Given the description of an element on the screen output the (x, y) to click on. 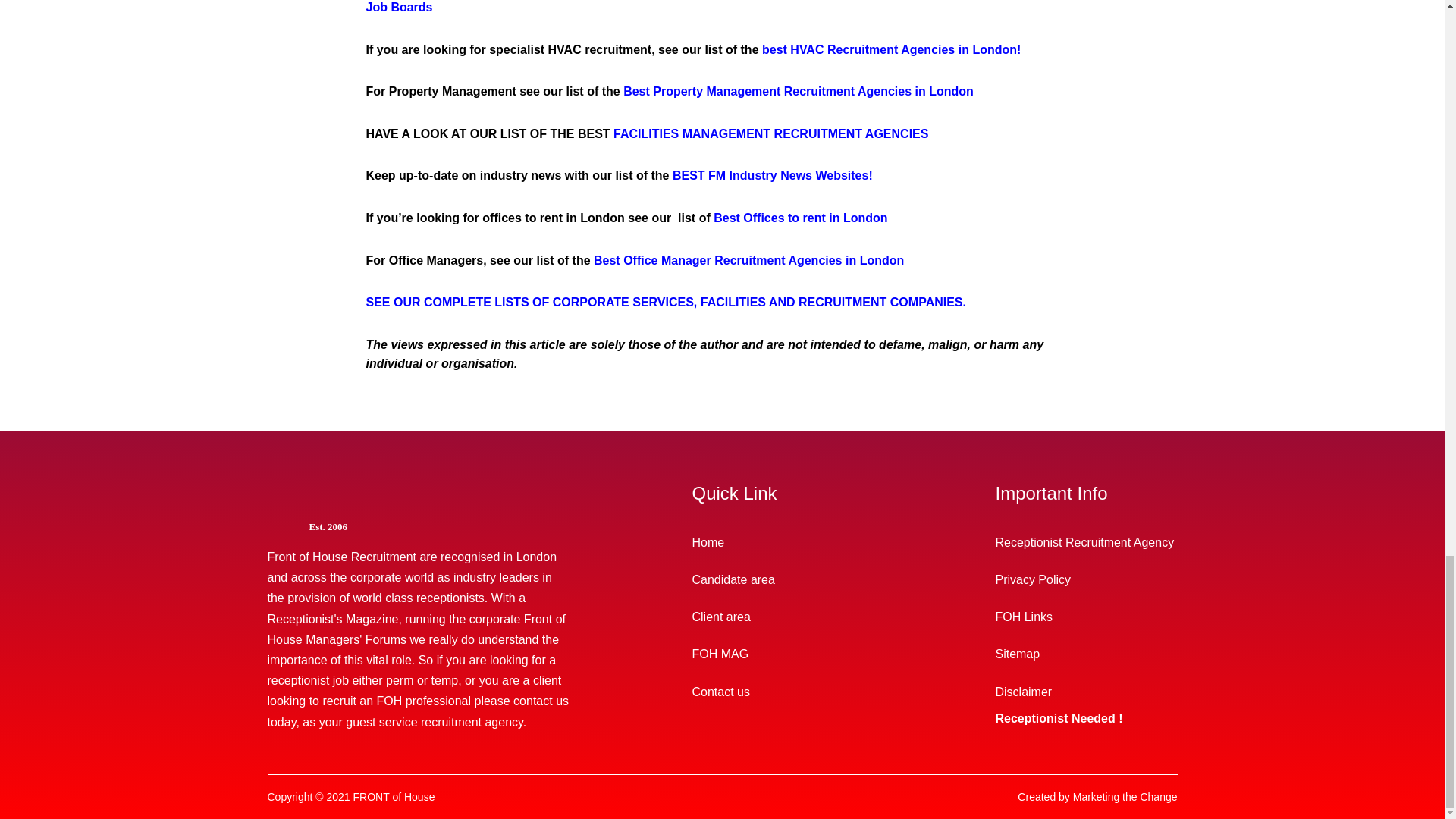
Best Construction Jobs and Job Boards (713, 6)
Best Office Manager Recruitment Agencies in London (749, 259)
Contact us (782, 691)
best HVAC Recruitment Agencies in London! (890, 49)
BEST FM Industry News Websites! (772, 174)
Best Offices to rent in London (799, 217)
Best Property Management Recruitment Agencies in London (798, 91)
Candidate area (782, 579)
Est. 2006 (439, 526)
Home (782, 542)
FOH MAG (782, 653)
FACILITIES MANAGEMENT RECRUITMENT AGENCIES (770, 133)
Client area (782, 616)
